Given the description of an element on the screen output the (x, y) to click on. 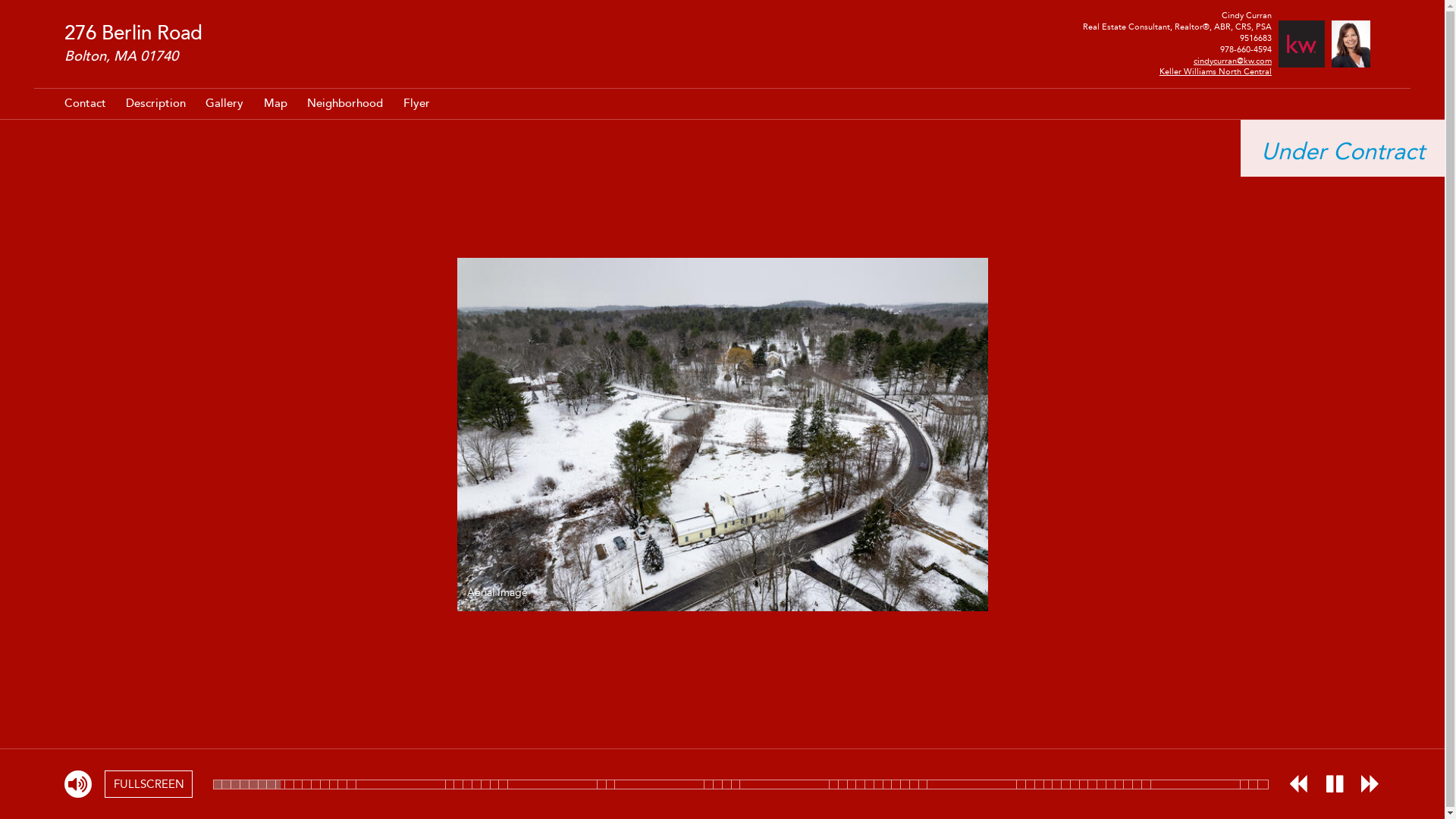
978-660-4594 Element type: text (1245, 48)
Contact Element type: text (85, 103)
Gallery Element type: text (224, 103)
cindycurran@kw.com Element type: text (1232, 60)
Description Element type: text (155, 103)
Neighborhood Element type: text (344, 103)
Flyer Element type: text (416, 103)
Keller Williams North Central Element type: text (1215, 70)
Map Element type: text (275, 103)
